Given the description of an element on the screen output the (x, y) to click on. 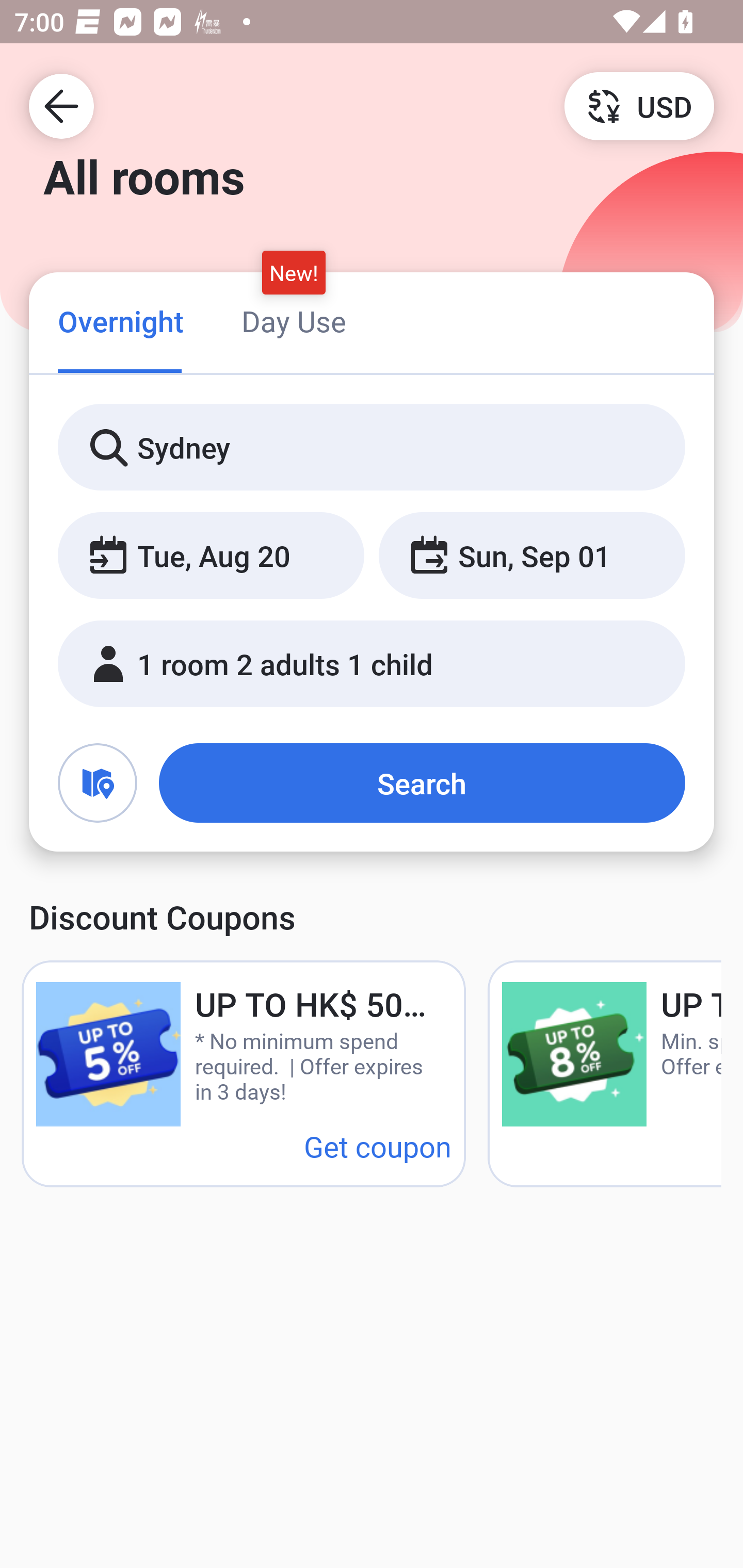
USD (639, 105)
New! (294, 272)
Day Use (293, 321)
Sydney (371, 447)
Tue, Aug 20 (210, 555)
Sun, Sep 01 (531, 555)
1 room 2 adults 1 child (371, 663)
Search (422, 783)
Get coupon (377, 1146)
